Given the description of an element on the screen output the (x, y) to click on. 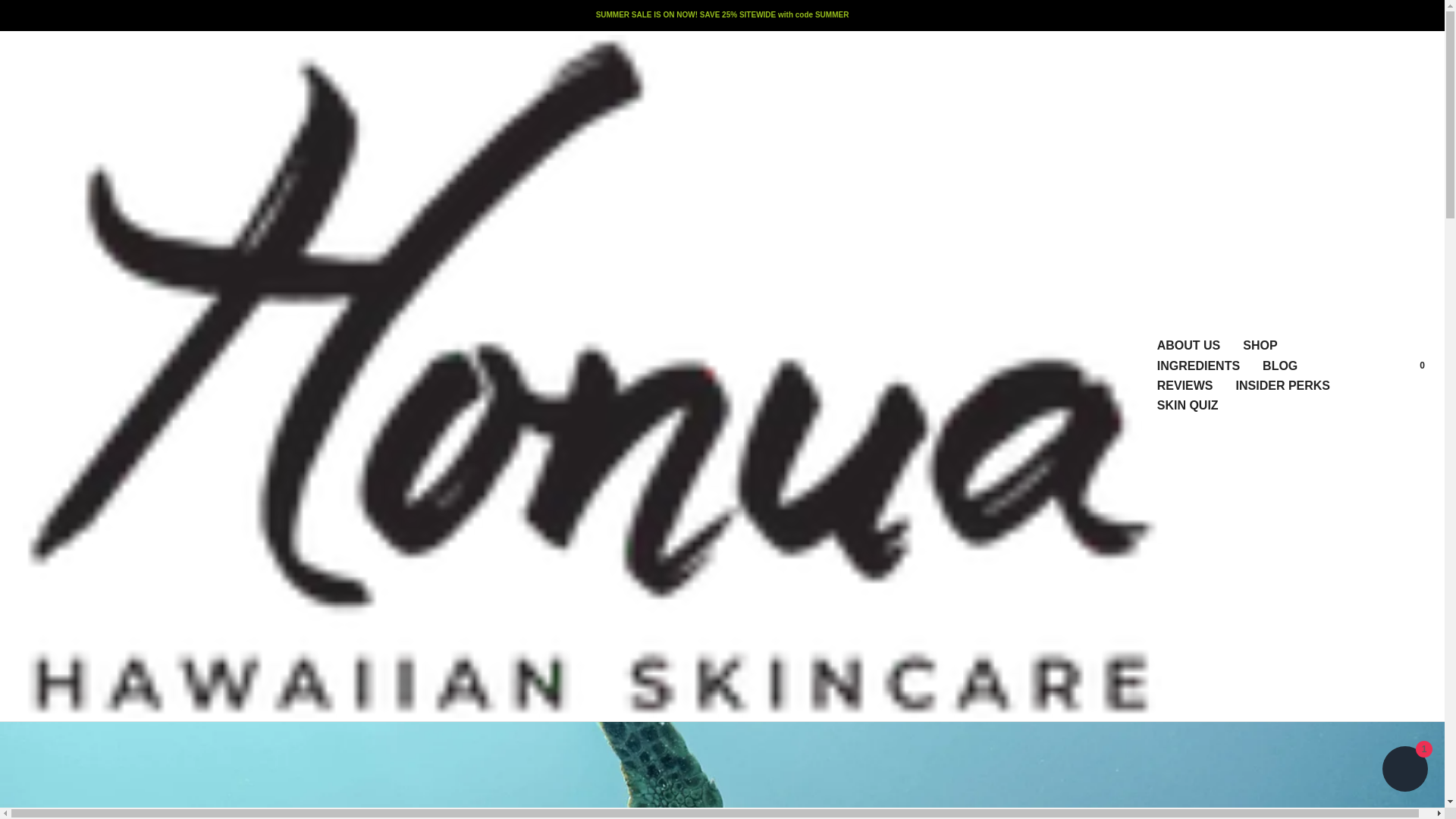
Shopify online store chat (1404, 770)
SHOP (1259, 345)
ABOUT US (1189, 345)
